Given the description of an element on the screen output the (x, y) to click on. 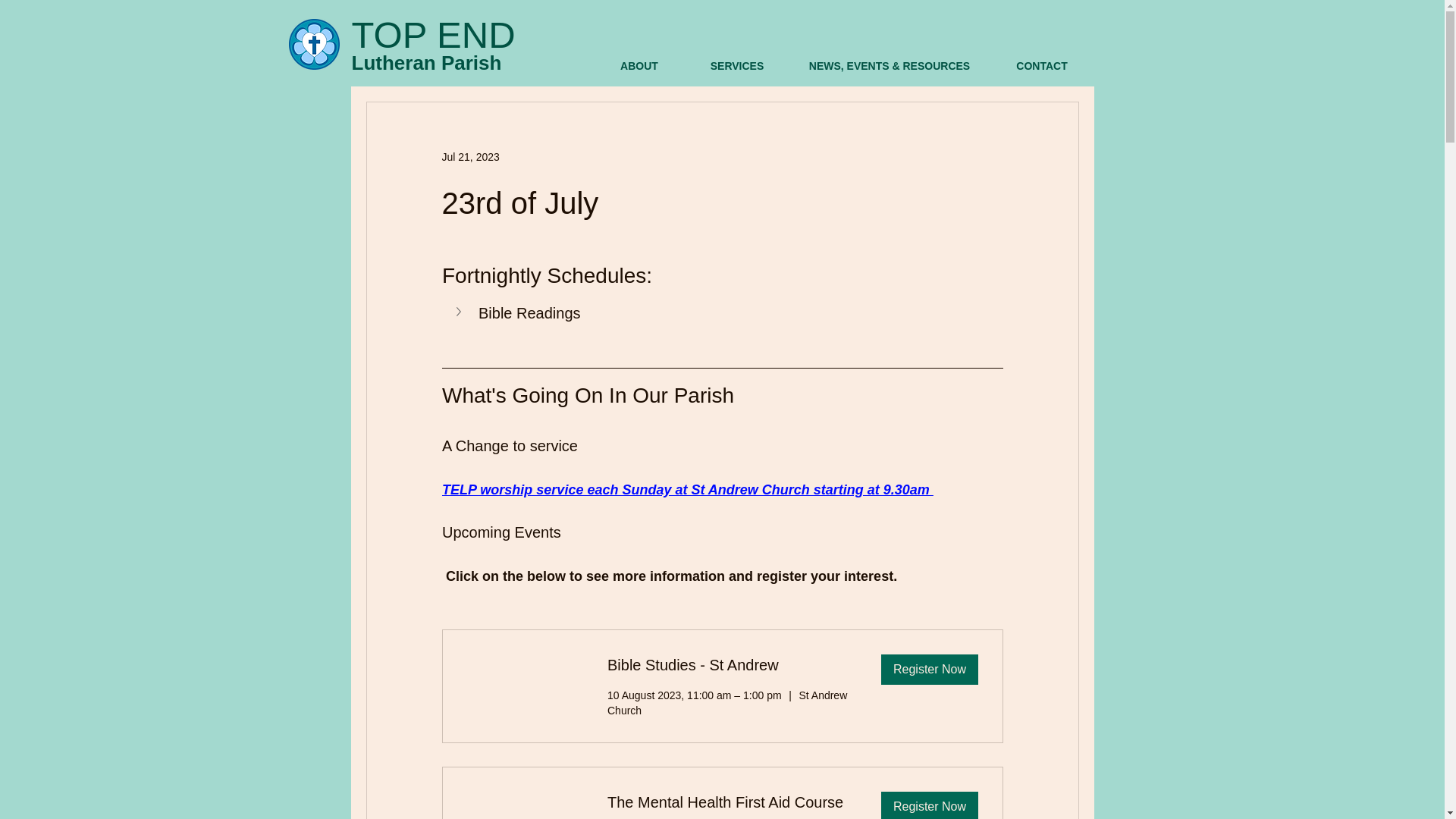
TOP END (433, 34)
SERVICES (737, 66)
Jul 21, 2023 (470, 155)
ABOUT (638, 66)
CONTACT (1042, 66)
Lutheran Parish (427, 62)
